Given the description of an element on the screen output the (x, y) to click on. 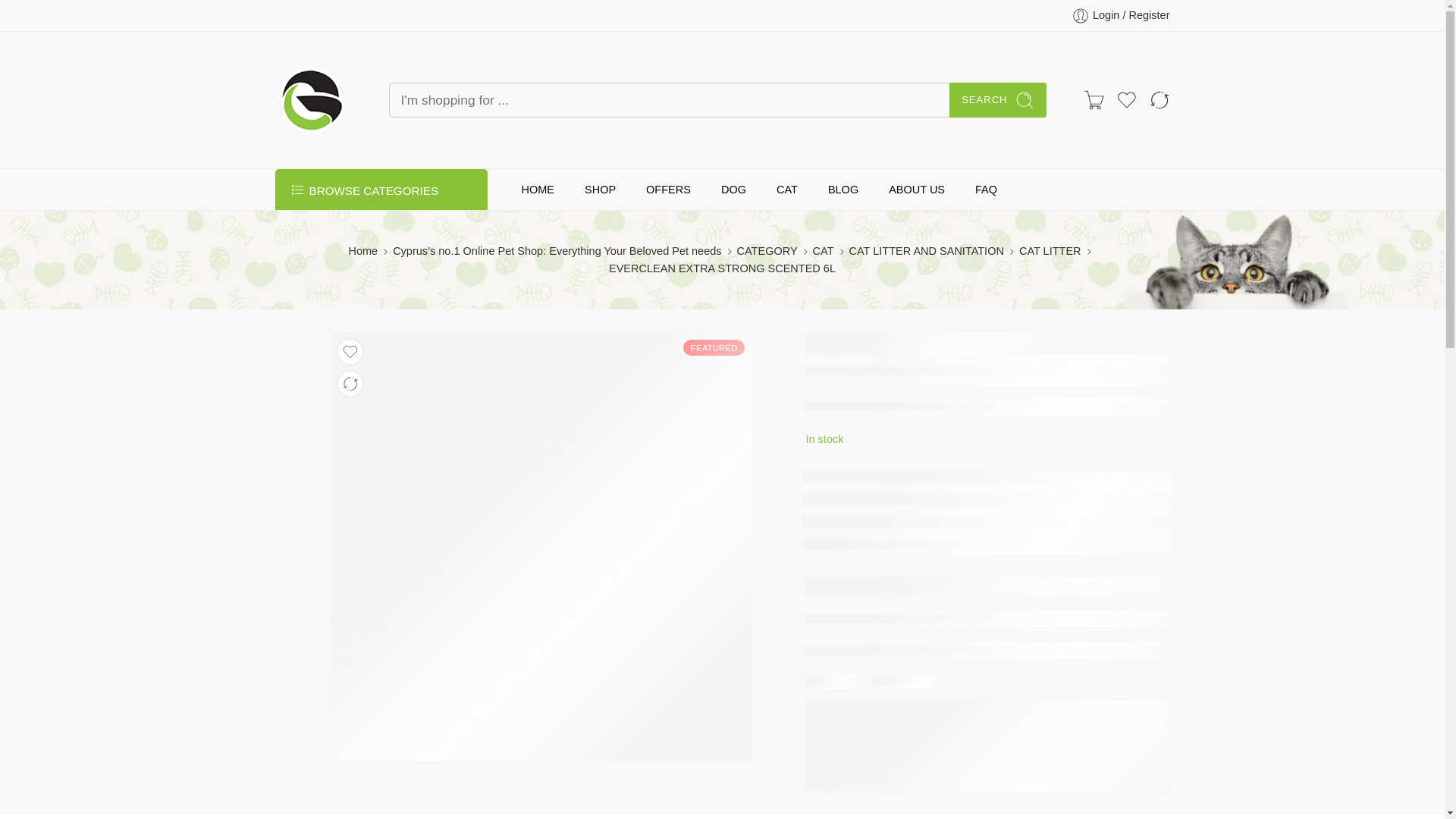
Wishlist (1126, 99)
Cart (1093, 99)
Compare (1158, 99)
Home (362, 251)
CATEGORY (766, 251)
OFFERS (668, 189)
ABOUT US (916, 189)
CAT LITTER (1050, 251)
CAT (823, 251)
CAT LITTER AND SANITATION (926, 251)
